Given the description of an element on the screen output the (x, y) to click on. 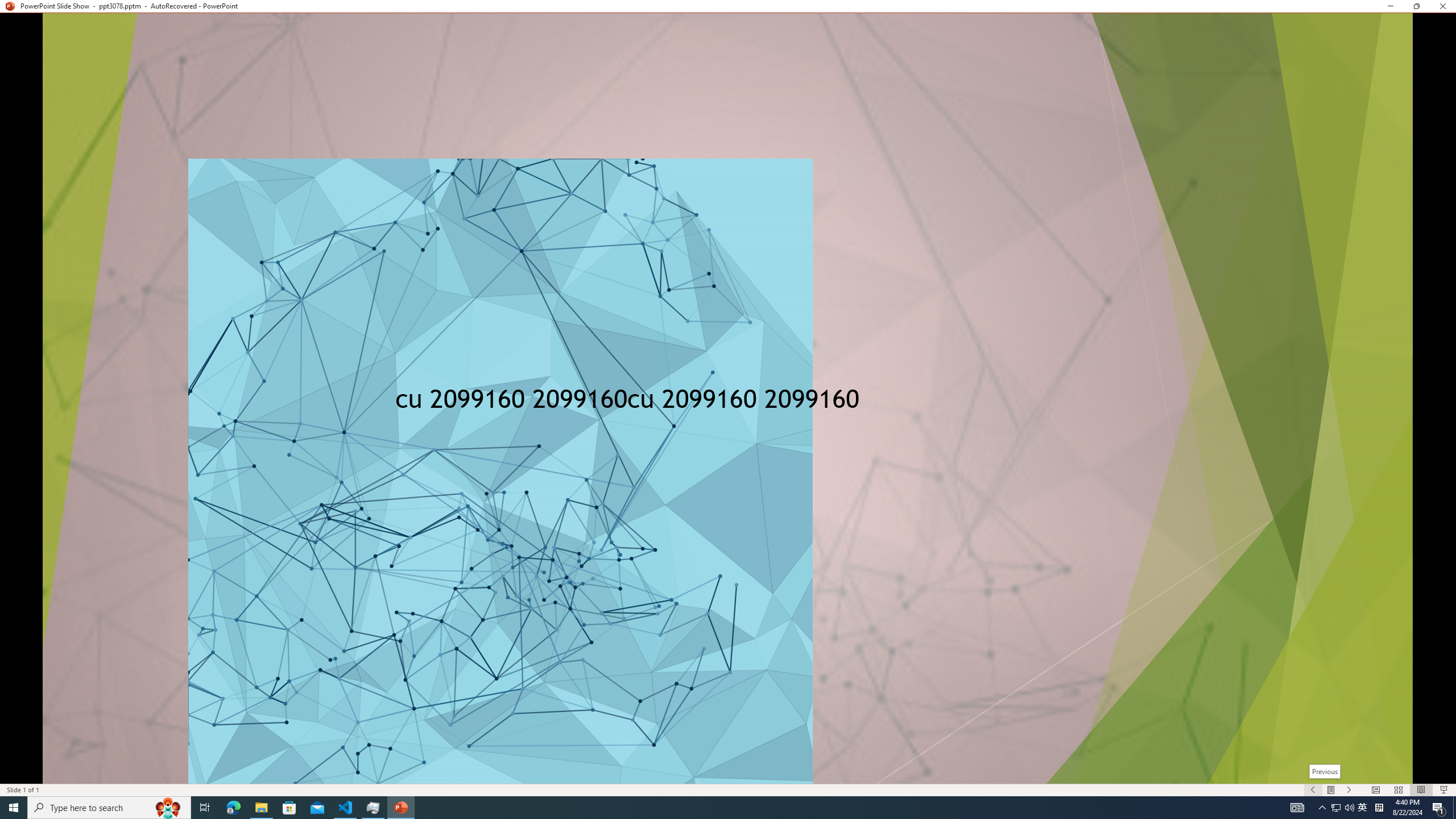
Slide Show Next On (1349, 790)
Previous (1324, 771)
Slide Show Previous On (1313, 790)
Menu On (1331, 790)
